Given the description of an element on the screen output the (x, y) to click on. 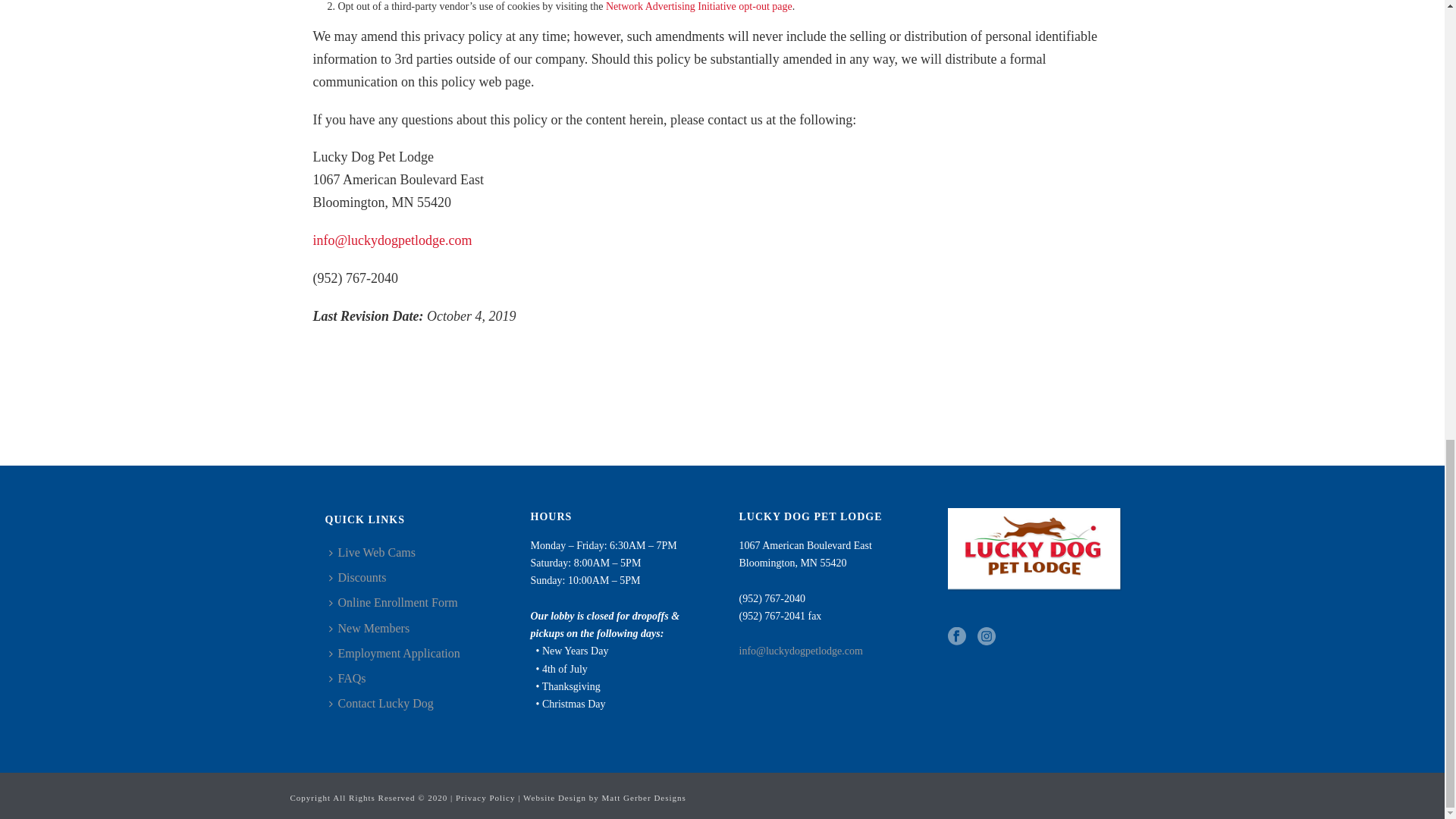
Follow Us on facebook (956, 637)
